Given the description of an element on the screen output the (x, y) to click on. 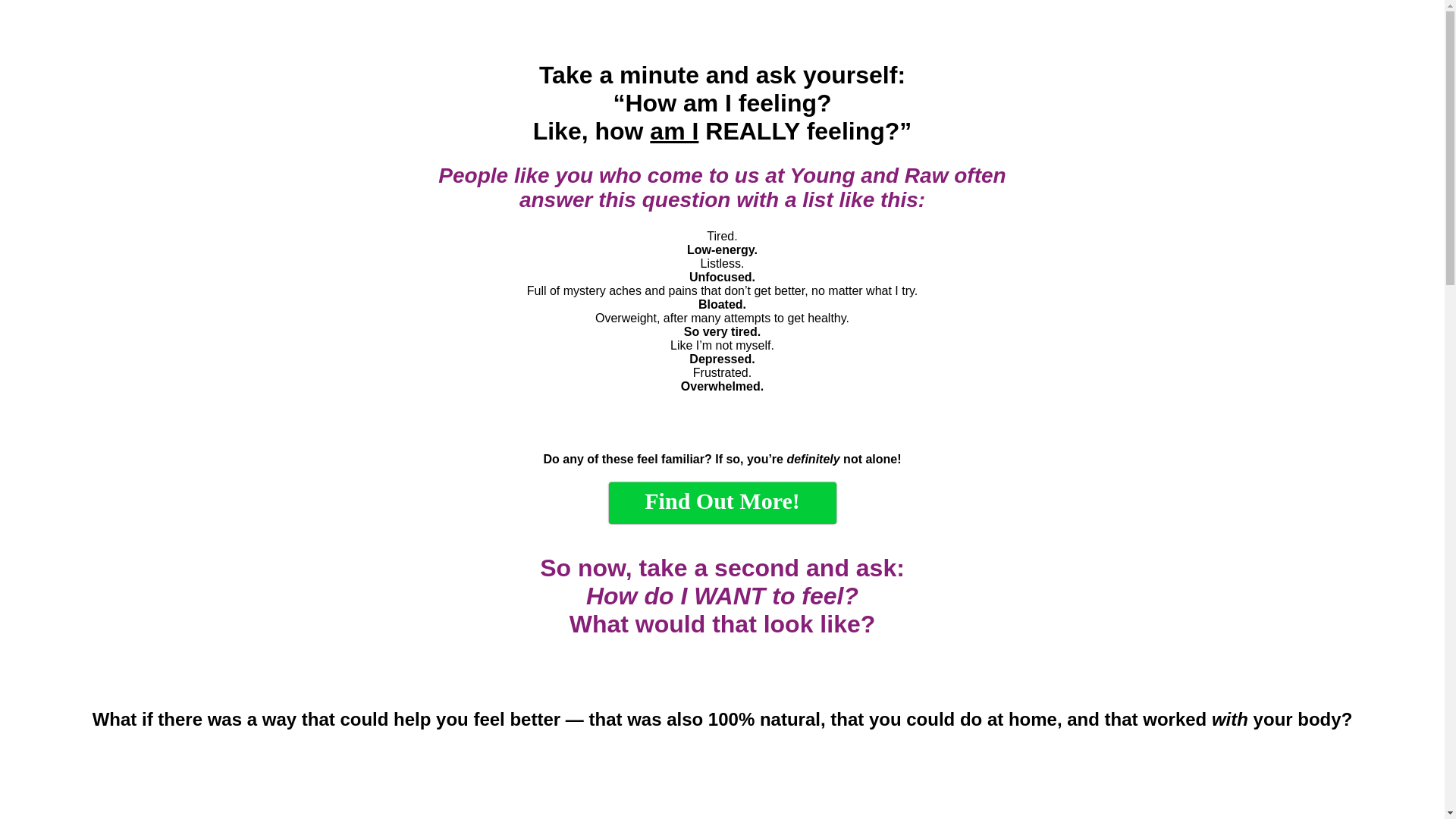
Find Out More! Element type: text (721, 503)
